Given the description of an element on the screen output the (x, y) to click on. 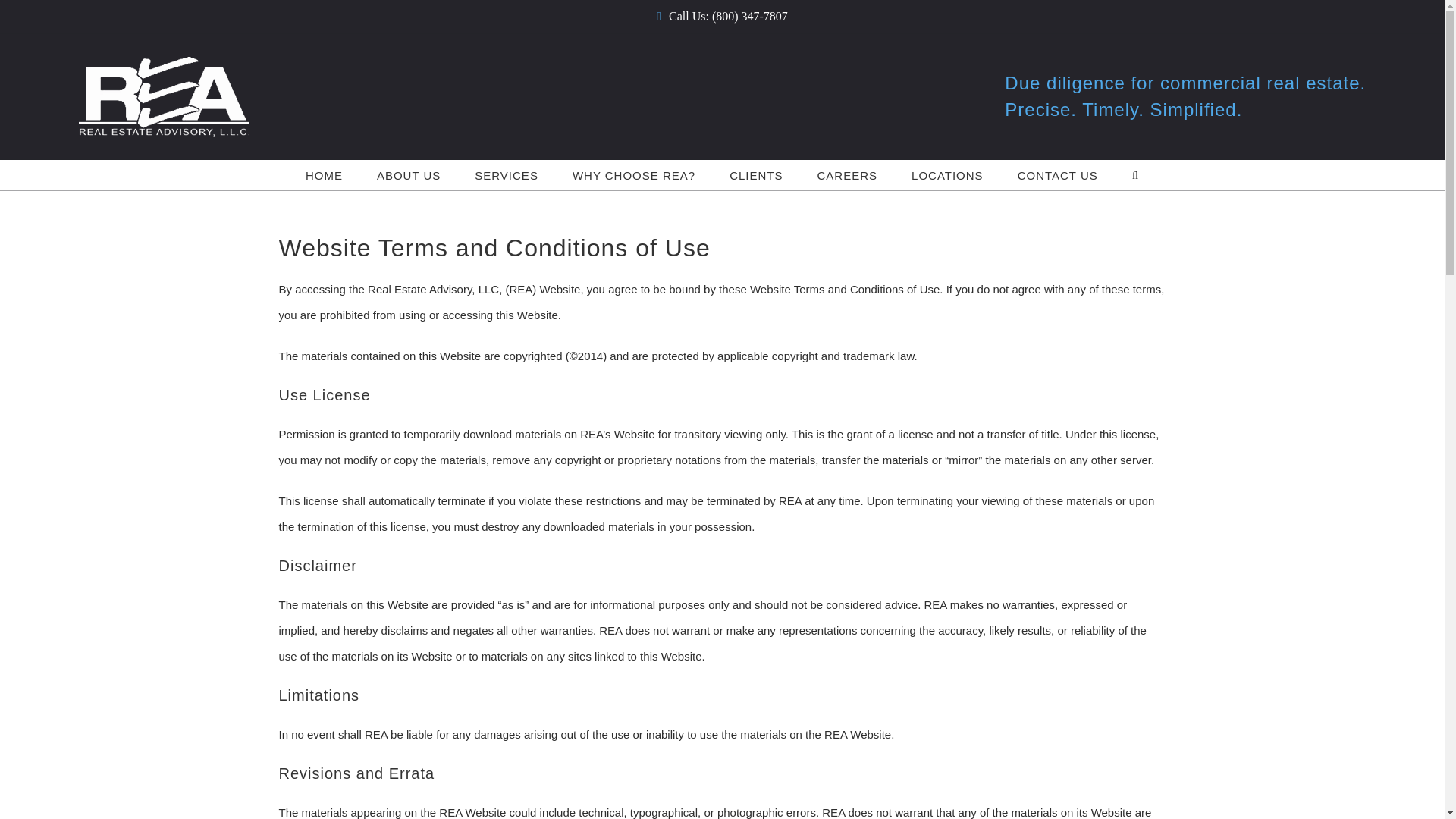
Search (1135, 174)
CAREERS (847, 174)
LOCATIONS (948, 174)
CLIENTS (756, 174)
WHY CHOOSE REA? (632, 174)
CONTACT US (1057, 174)
SERVICES (507, 174)
ABOUT US (408, 174)
HOME (323, 174)
